Given the description of an element on the screen output the (x, y) to click on. 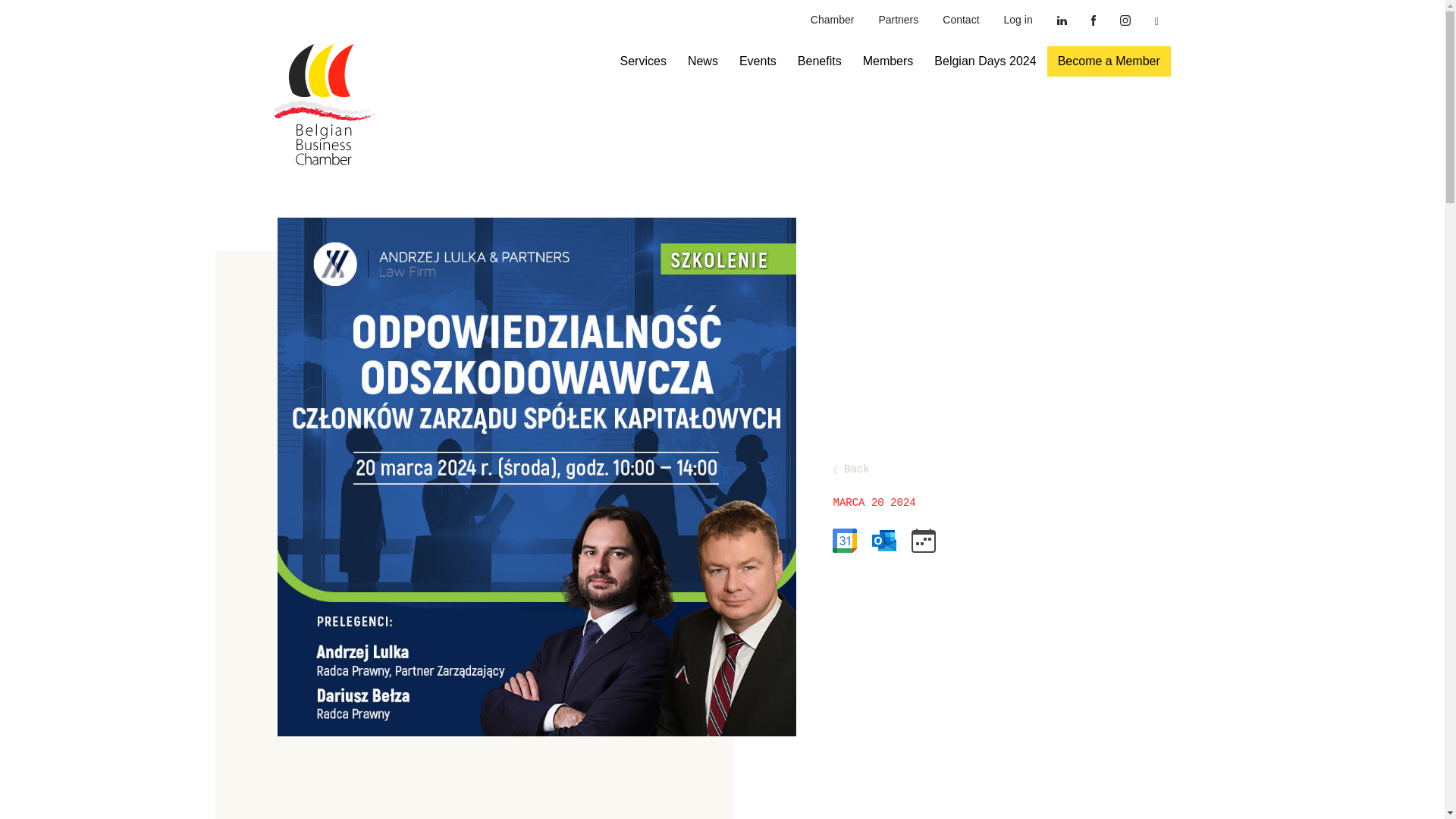
Partners (898, 19)
Become a Member (1108, 60)
Back (850, 469)
Belgian Days 2024 (984, 60)
Benefits (819, 60)
Chamber (831, 19)
Services (643, 60)
Log in (1018, 19)
Events (758, 60)
Members (887, 60)
News (703, 60)
Contact (960, 19)
